Given the description of an element on the screen output the (x, y) to click on. 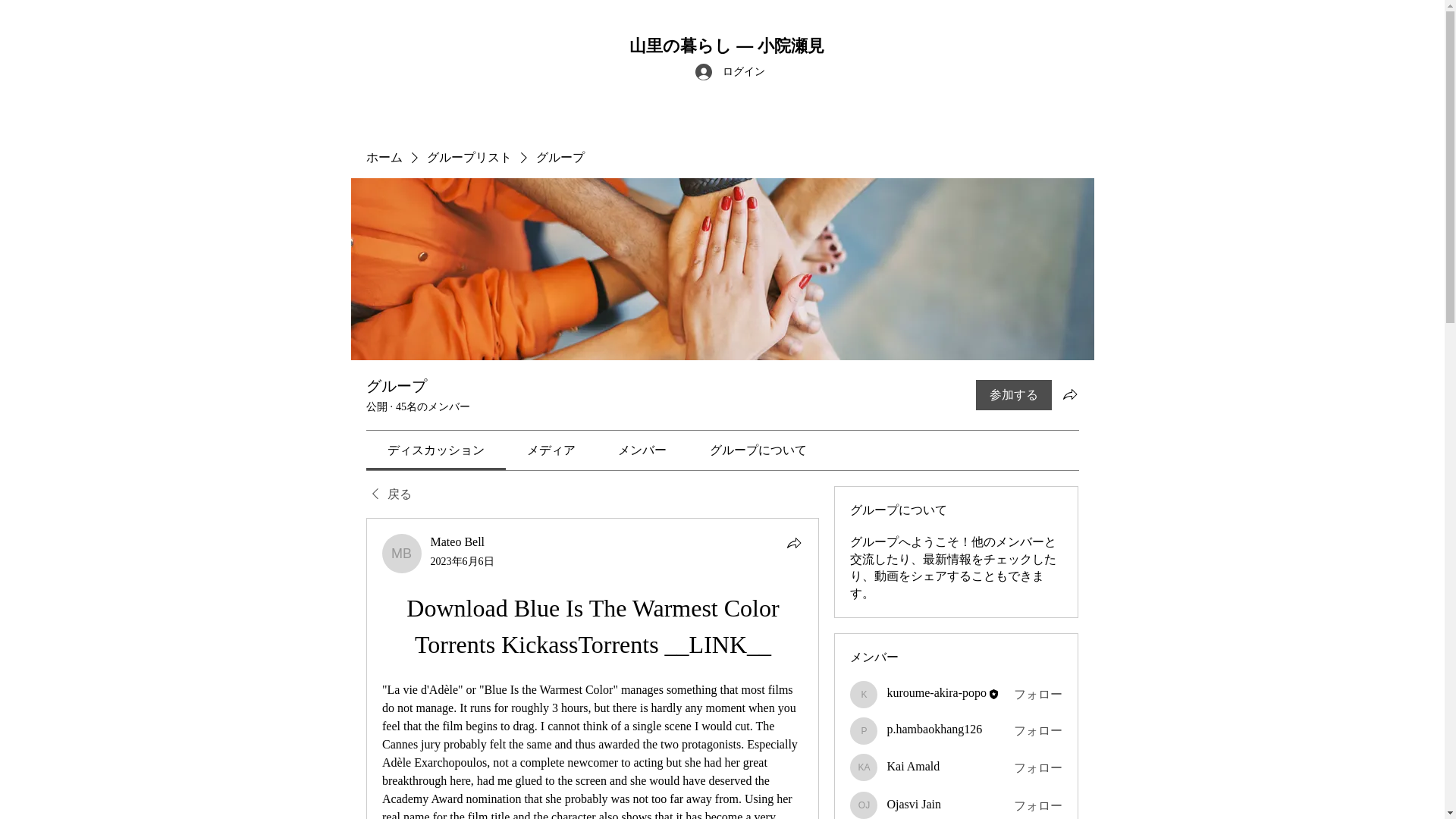
p.hambaokhang126 (933, 728)
kuroume-akira-popo (863, 694)
p.hambaokhang126 (863, 730)
Mateo Bell (401, 553)
Kai Amald (863, 767)
kuroume-akira-popo (936, 692)
Ojasvi Jain (863, 805)
